Given the description of an element on the screen output the (x, y) to click on. 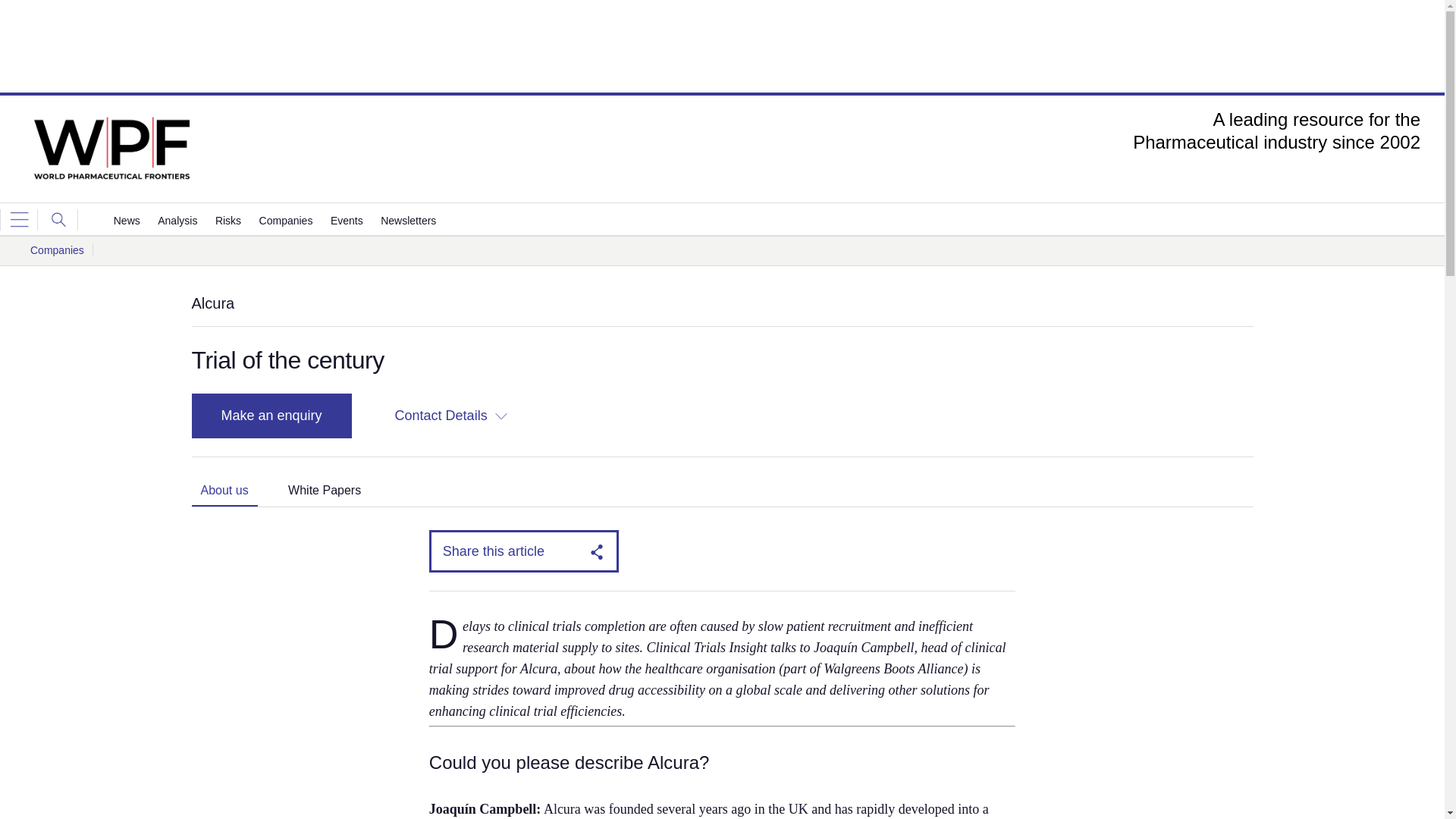
Analysis (176, 220)
3rd party ad content (721, 46)
Companies (286, 220)
